Given the description of an element on the screen output the (x, y) to click on. 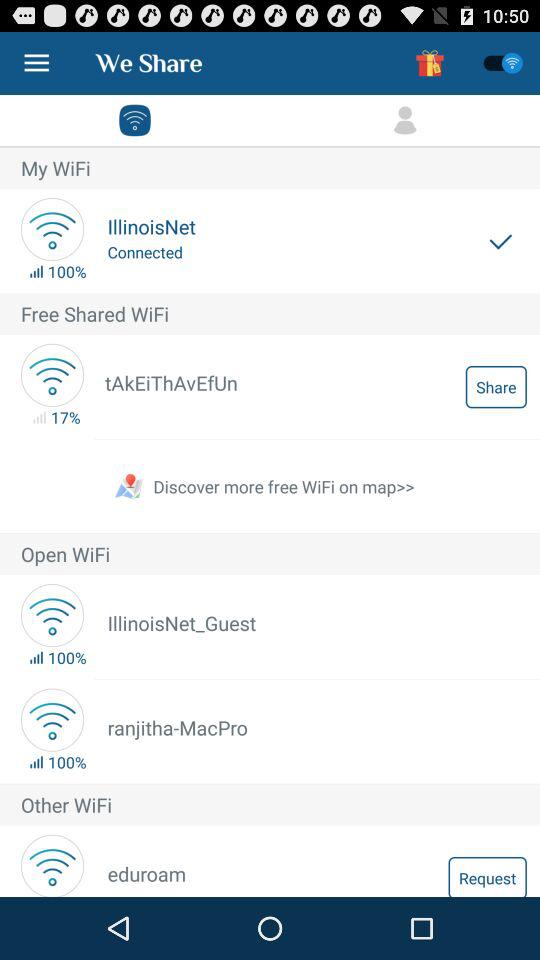
click request at the bottom right corner (487, 876)
